Given the description of an element on the screen output the (x, y) to click on. 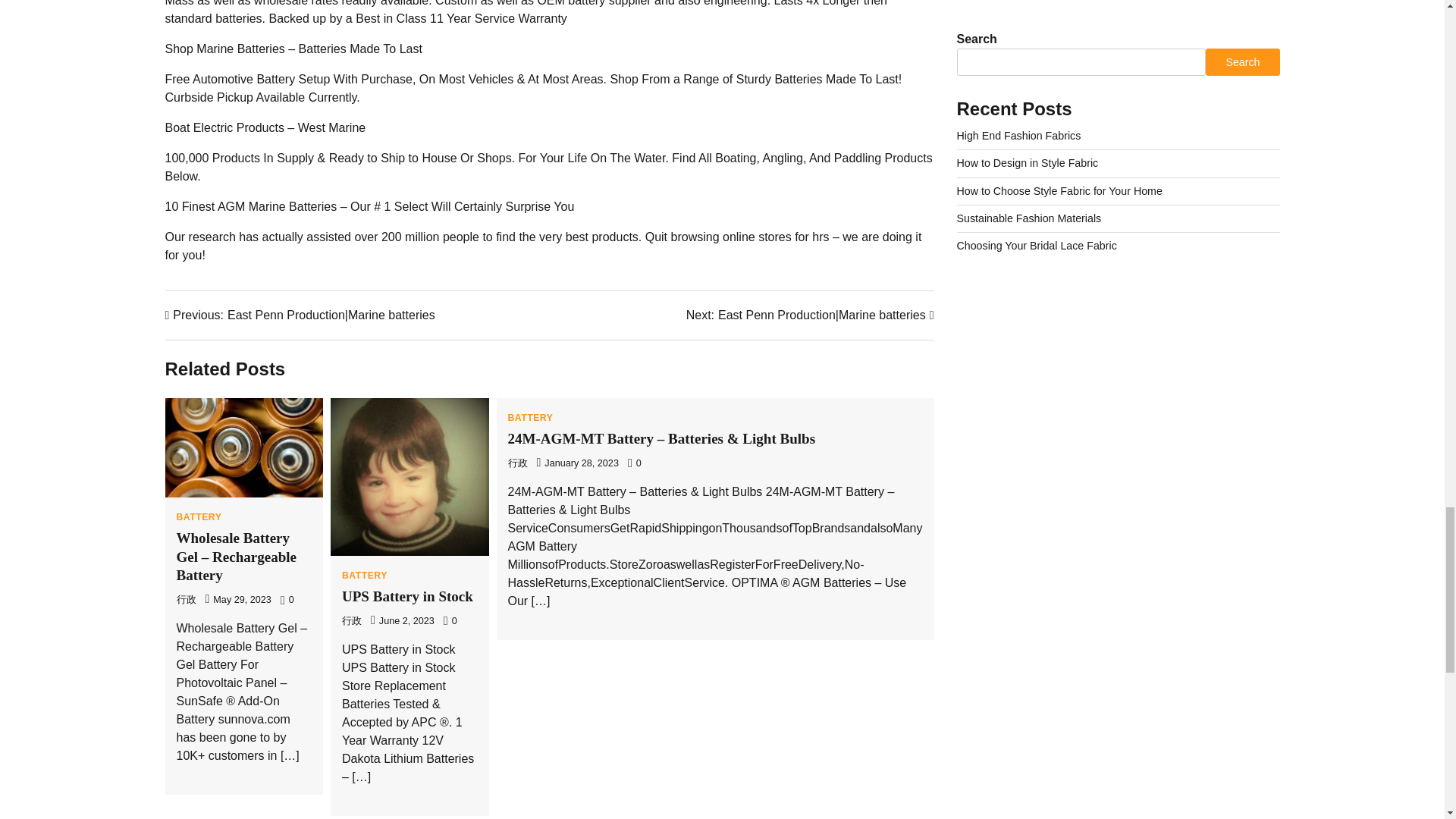
BATTERY (364, 574)
BATTERY (530, 417)
BATTERY (198, 516)
UPS Battery in Stock (407, 596)
